Given the description of an element on the screen output the (x, y) to click on. 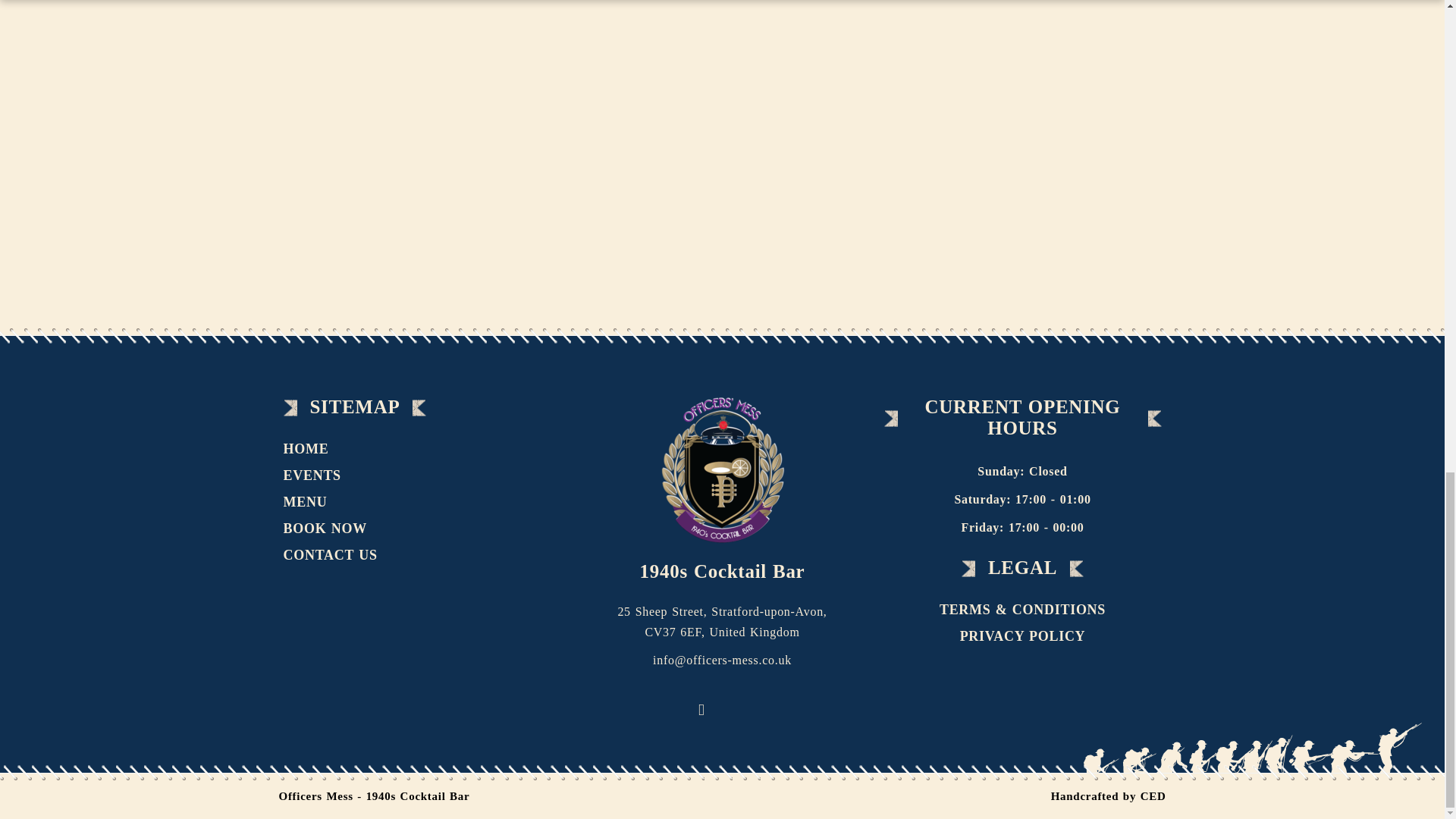
EVENTS (317, 475)
CONTACT US (335, 555)
Email (743, 703)
MENU (311, 501)
HOME (311, 448)
CED (1153, 796)
PRIVACY POLICY (1023, 636)
BOOK NOW (330, 528)
Facebook (702, 710)
